Given the description of an element on the screen output the (x, y) to click on. 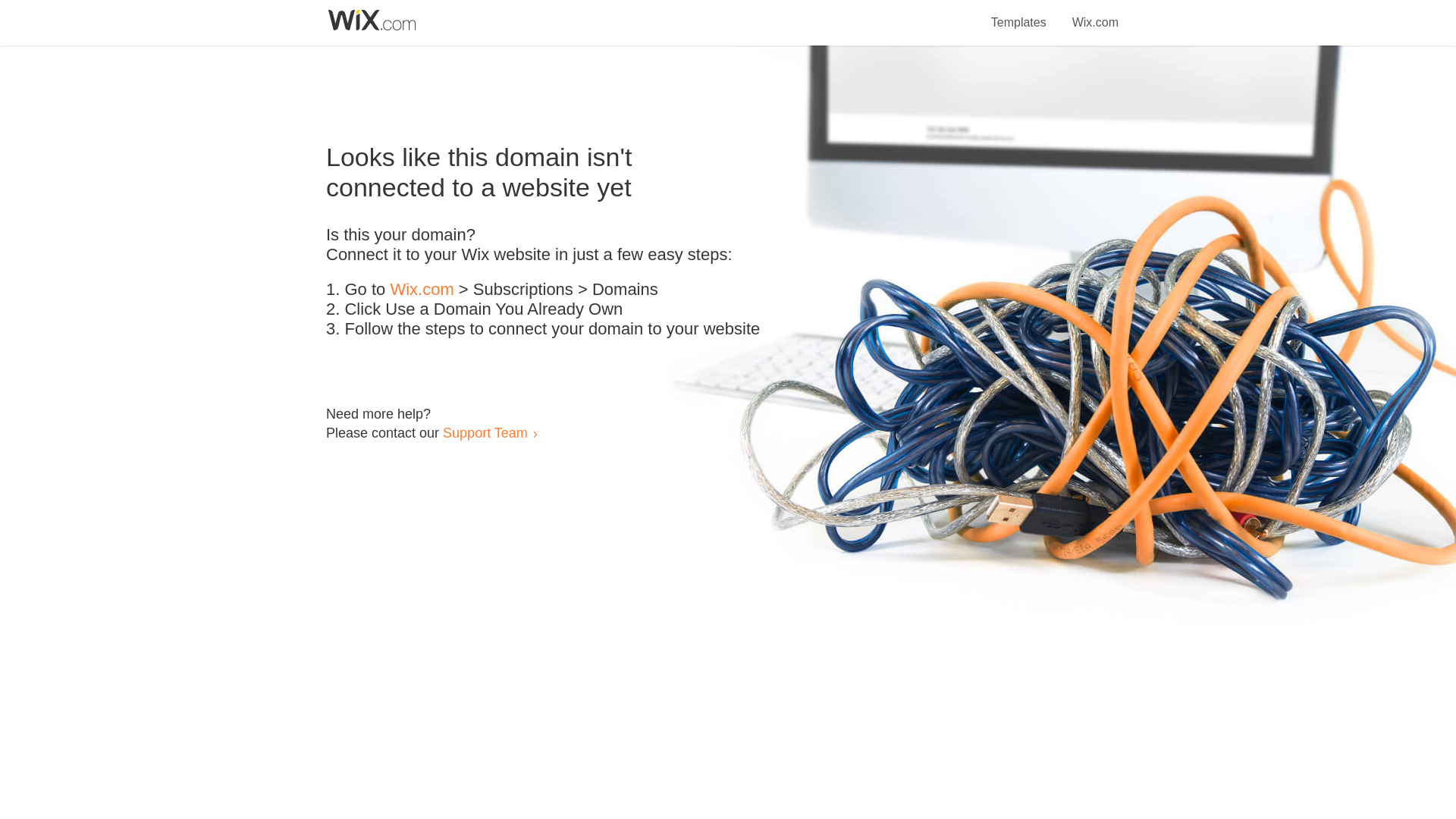
Templates (1018, 14)
Support Team (484, 432)
Wix.com (421, 289)
Wix.com (1095, 14)
